Given the description of an element on the screen output the (x, y) to click on. 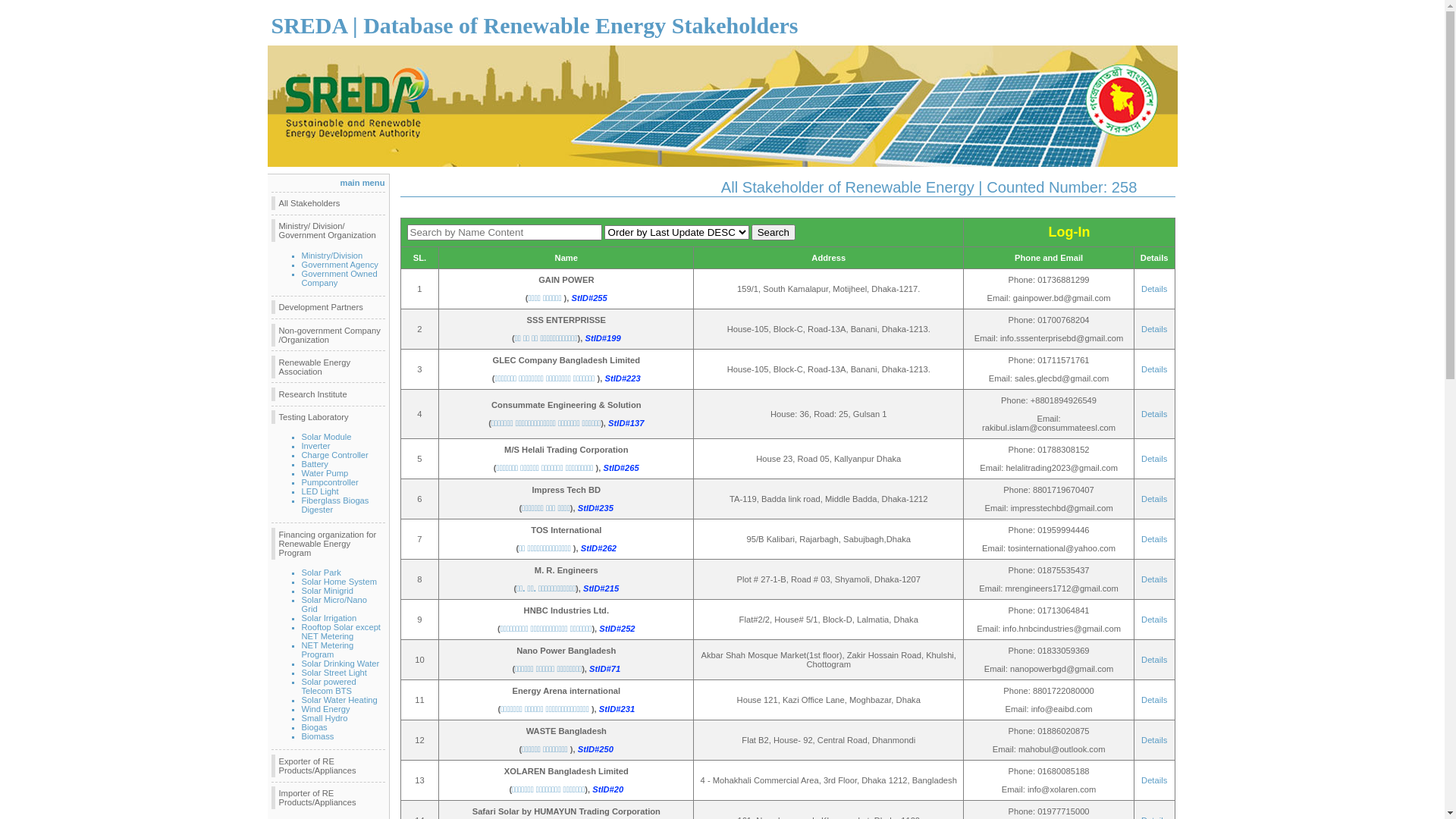
Details Element type: text (1154, 659)
Details Element type: text (1154, 779)
Solar Home System Element type: text (338, 581)
Details Element type: text (1154, 413)
Solar Drinking Water Element type: text (340, 663)
Rooftop Solar except NET Metering Element type: text (340, 631)
Inverter Element type: text (315, 445)
All Stakeholders Element type: text (328, 203)
Ministry/Division Element type: text (332, 255)
Fiberglass Biogas Digester Element type: text (335, 504)
Details Element type: text (1154, 458)
Solar Minigrid Element type: text (327, 590)
Solar Module Element type: text (326, 436)
Financing organization for Renewable Energy Program Element type: text (328, 543)
Solar Street Light Element type: text (334, 672)
Solar Micro/Nano Grid Element type: text (334, 604)
Charge Controller Element type: text (334, 454)
Battery Element type: text (314, 463)
Ministry/ Division/ Government Organization Element type: text (328, 230)
Government Owned Company Element type: text (339, 278)
Testing Laboratory Element type: text (328, 416)
Government Agency Element type: text (339, 264)
NET Metering Program Element type: text (327, 649)
Details Element type: text (1154, 578)
Small Hydro Element type: text (324, 717)
Details Element type: text (1154, 498)
main menu Element type: text (361, 182)
Solar Park Element type: text (321, 572)
Details Element type: text (1154, 288)
Details Element type: text (1154, 328)
Development Partners Element type: text (328, 306)
Biomass Element type: text (317, 735)
Exporter of RE Products/Appliances Element type: text (328, 765)
Biogas Element type: text (314, 726)
Water Pump Element type: text (324, 472)
Wind Energy Element type: text (325, 708)
Non-government Company /Organization Element type: text (328, 334)
Search Element type: text (773, 232)
Details Element type: text (1154, 368)
Solar powered Telecom BTS Element type: text (328, 686)
Importer of RE Products/Appliances Element type: text (328, 797)
Research Institute Element type: text (328, 394)
Pumpcontroller Element type: text (329, 481)
Details Element type: text (1154, 619)
Renewable Energy Association Element type: text (328, 366)
LED Light Element type: text (319, 490)
Details Element type: text (1154, 538)
Details Element type: text (1154, 739)
Solar Irrigation Element type: text (329, 617)
Details Element type: text (1154, 699)
Solar Water Heating Element type: text (339, 699)
Log-In Element type: text (1068, 233)
